Given the description of an element on the screen output the (x, y) to click on. 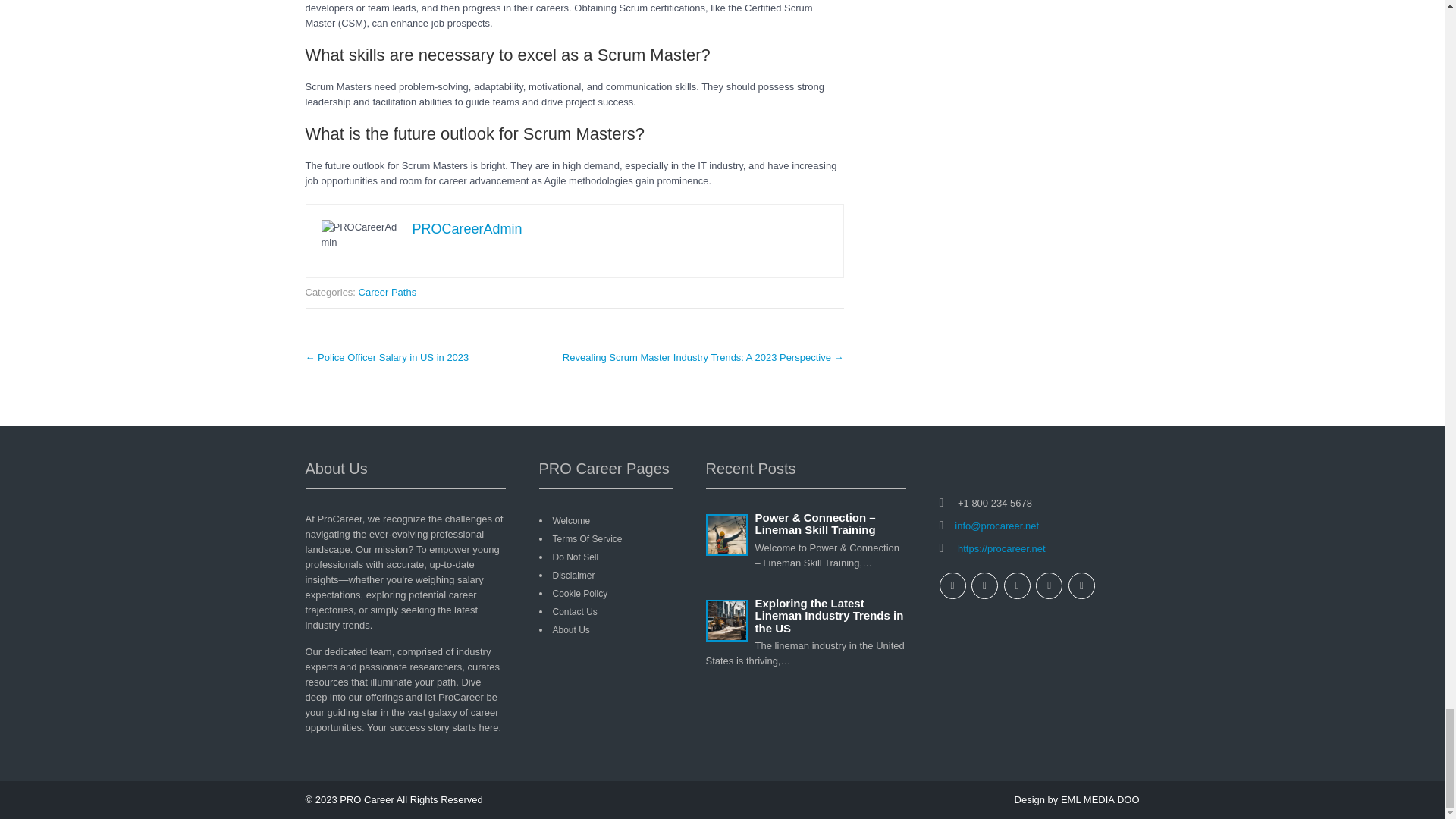
Welcome (570, 520)
Terms Of Service (586, 538)
Career Paths (387, 292)
Do Not Sell (574, 557)
PROCareerAdmin (467, 228)
Disclaimer (572, 575)
